Given the description of an element on the screen output the (x, y) to click on. 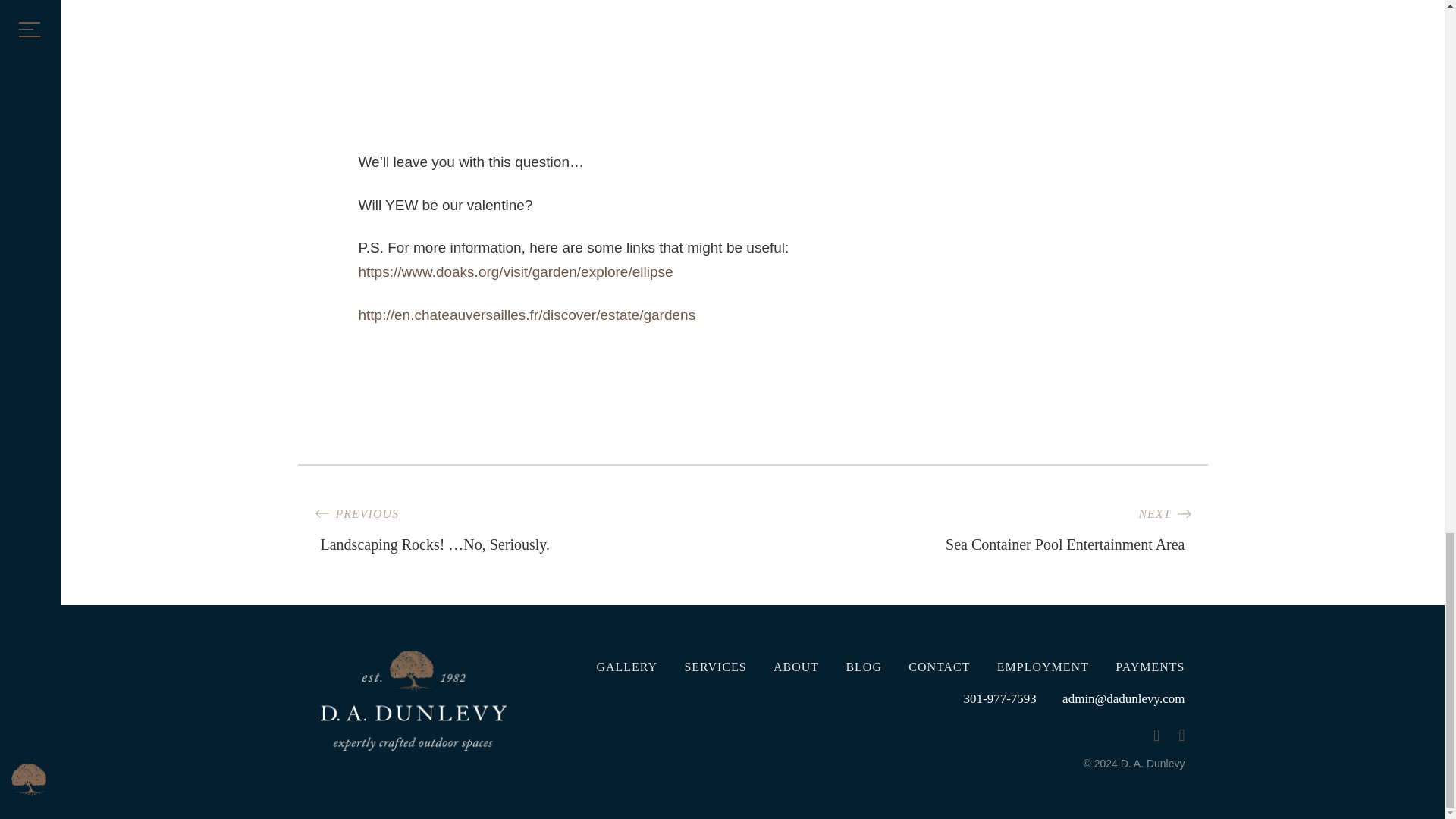
GALLERY (615, 666)
BLOG (852, 666)
ABOUT (784, 666)
PAYMENTS (1139, 666)
EMPLOYMENT (1031, 666)
SERVICES (703, 666)
D. A. Dunlevy (412, 700)
301-977-7593 (999, 698)
CONTACT (977, 522)
